Given the description of an element on the screen output the (x, y) to click on. 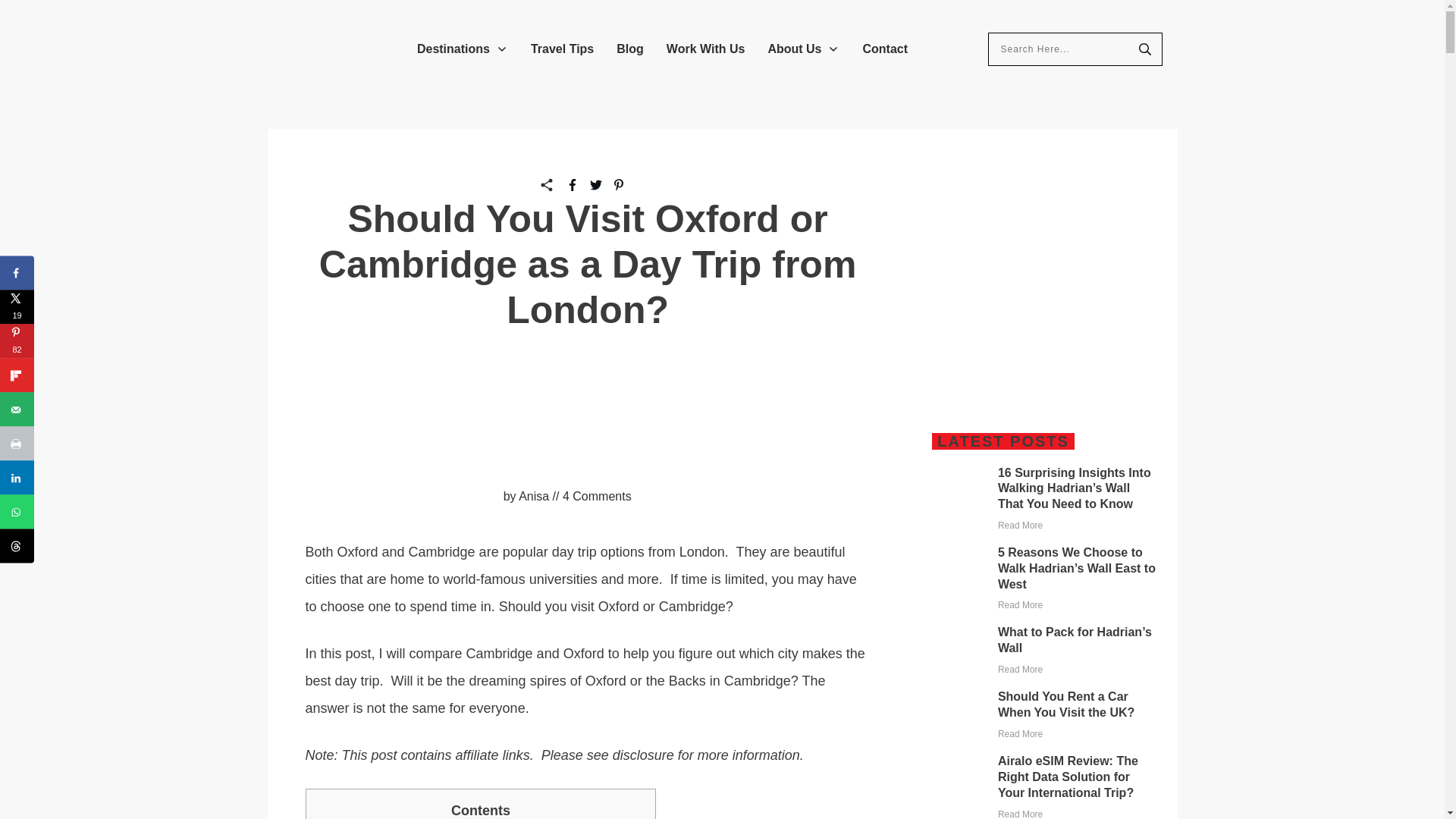
About Us (803, 48)
Travel Tips (562, 48)
Contact (884, 48)
Destinations (462, 48)
Featured Image Without Sidebar (468, 496)
Work With Us (705, 48)
Blog (629, 48)
